Given the description of an element on the screen output the (x, y) to click on. 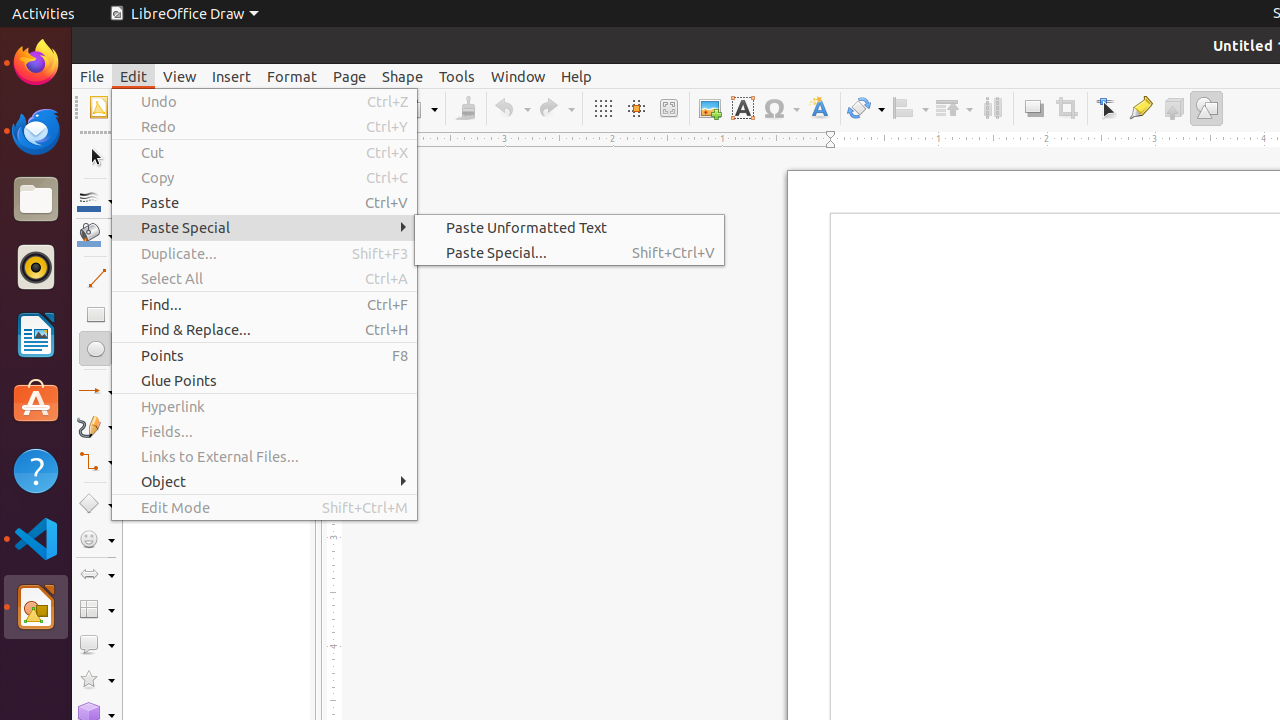
Points Element type: check-menu-item (264, 355)
Thunderbird Mail Element type: push-button (36, 131)
Object Element type: menu (264, 481)
Transformations Element type: push-button (866, 108)
Edit Points Element type: push-button (1107, 108)
